Given the description of an element on the screen output the (x, y) to click on. 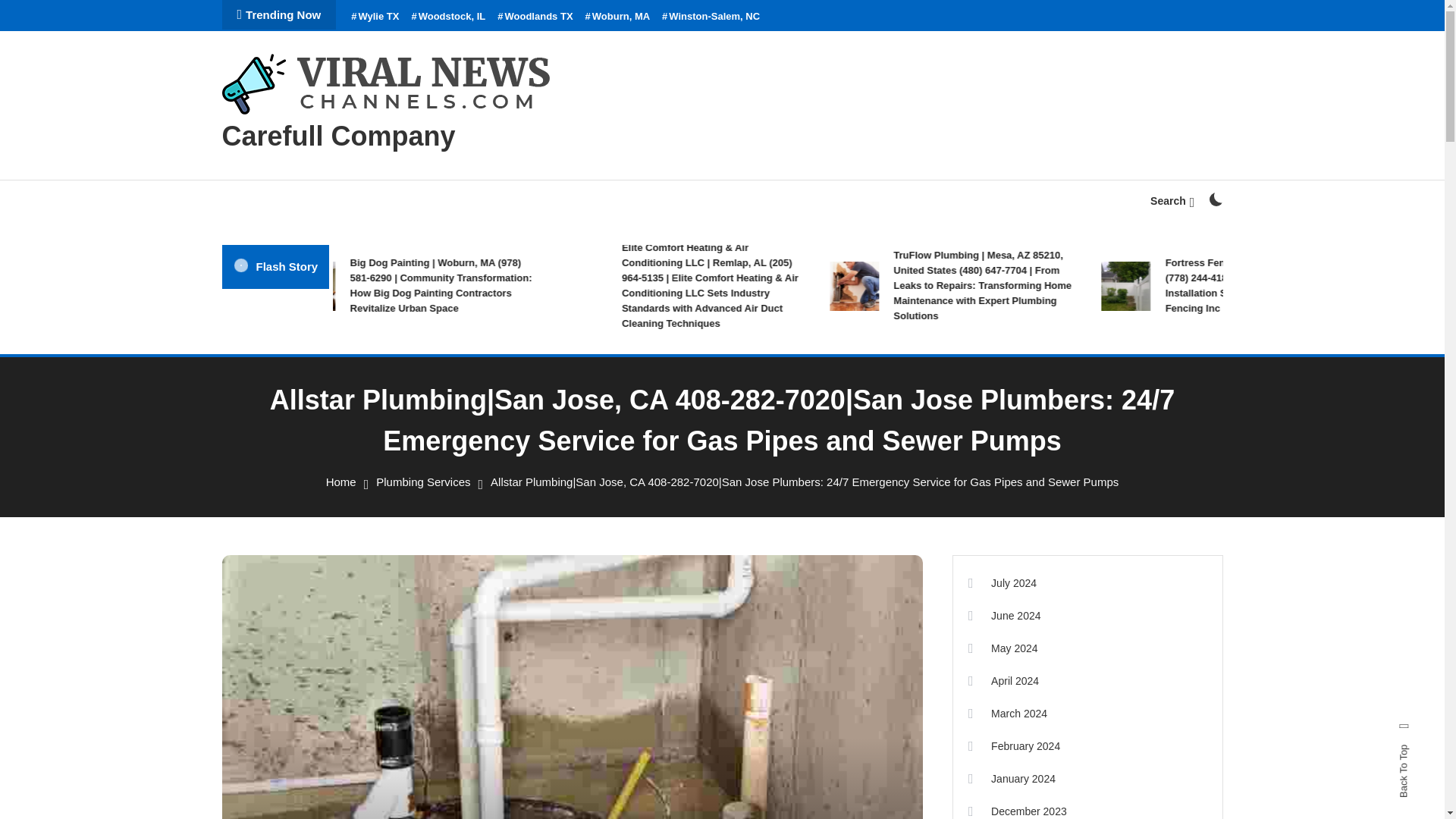
Wylie TX (374, 16)
Woodstock, IL (447, 16)
Winston-Salem, NC (711, 16)
on (1215, 199)
Woburn, MA (617, 16)
Home (341, 481)
Search (768, 434)
Carefull Company (337, 135)
Plumbing Services (422, 481)
Search (1171, 200)
Woodlands TX (534, 16)
